Given the description of an element on the screen output the (x, y) to click on. 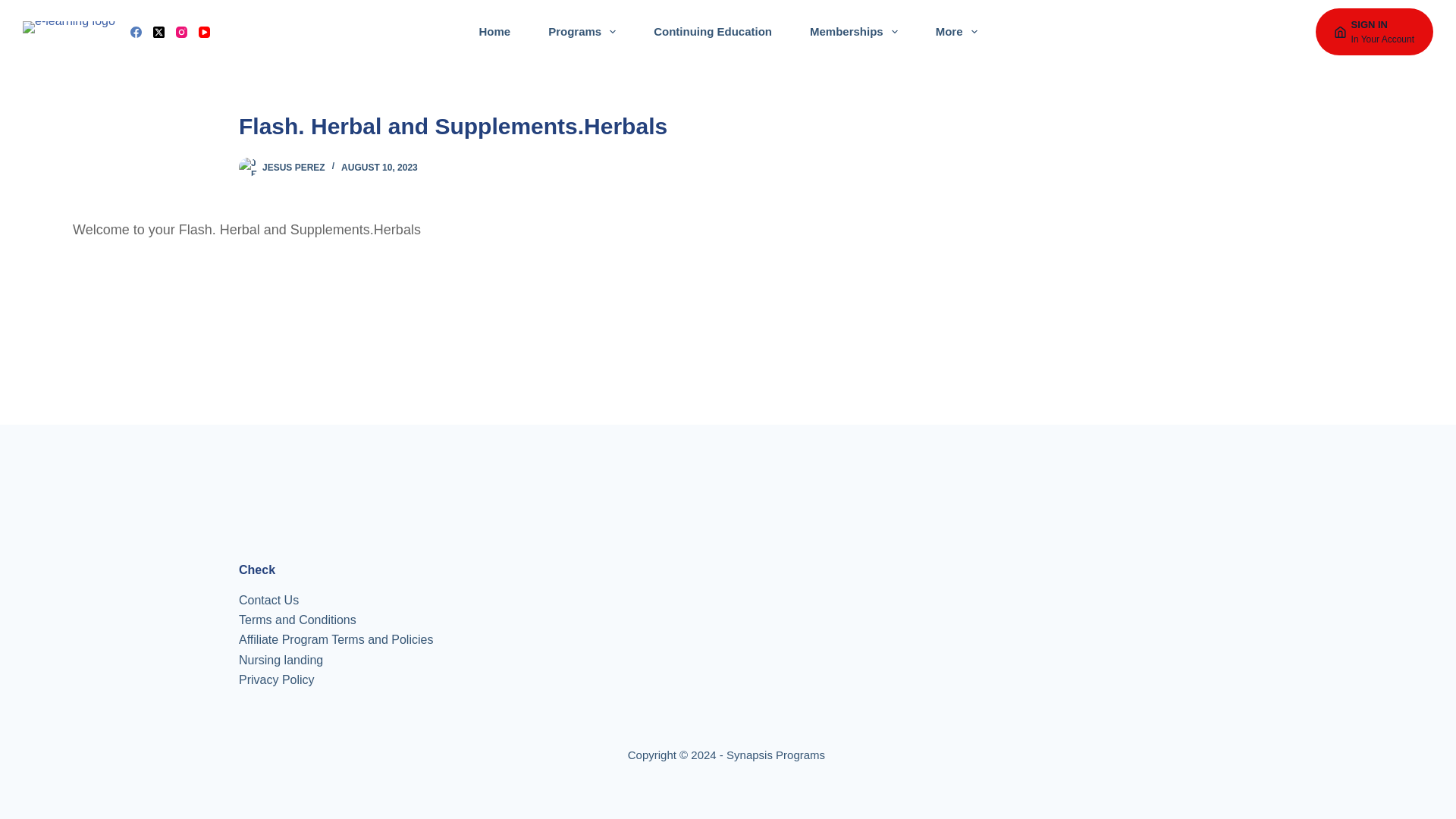
Skip to content (15, 7)
Flash. Herbal and Supplements.Herbals (727, 125)
Posts by Jesus Perez (293, 167)
